Given the description of an element on the screen output the (x, y) to click on. 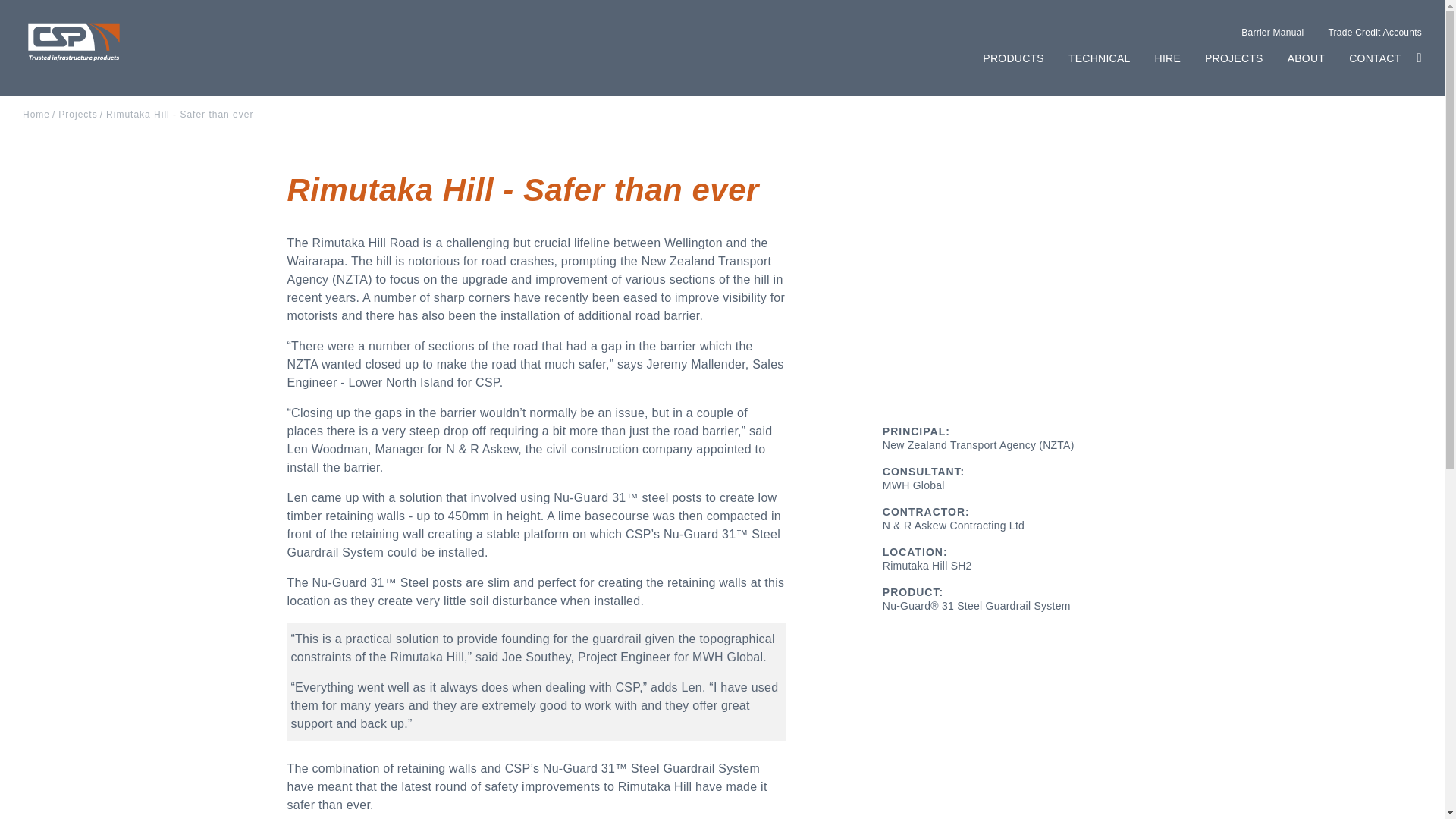
Rimutakahill (1019, 285)
CSP (74, 42)
PRODUCTS (1014, 58)
